Given the description of an element on the screen output the (x, y) to click on. 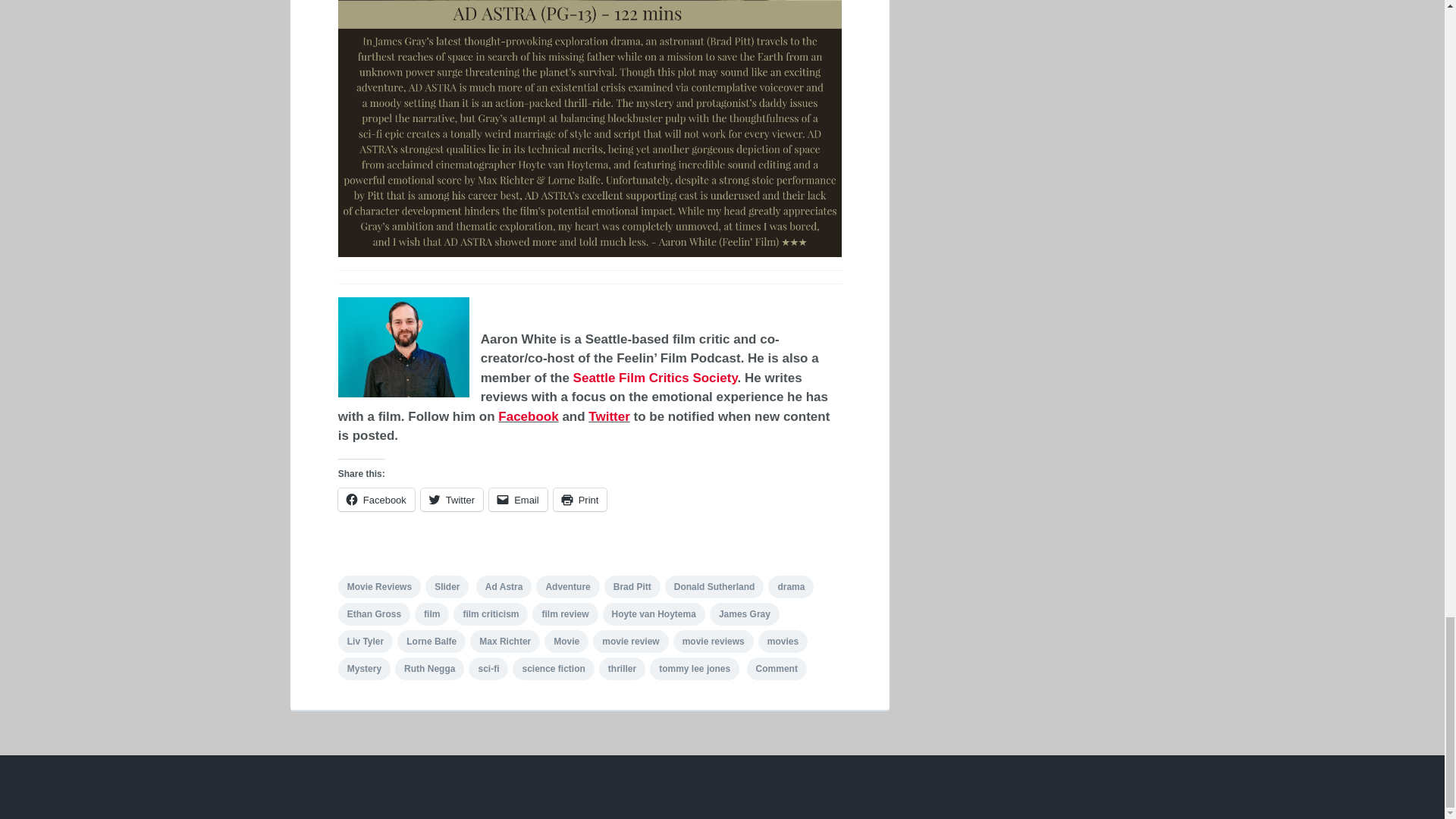
Click to email a link to a friend (518, 499)
Click to print (580, 499)
Click to share on Facebook (375, 499)
Click to share on Twitter (451, 499)
